Given the description of an element on the screen output the (x, y) to click on. 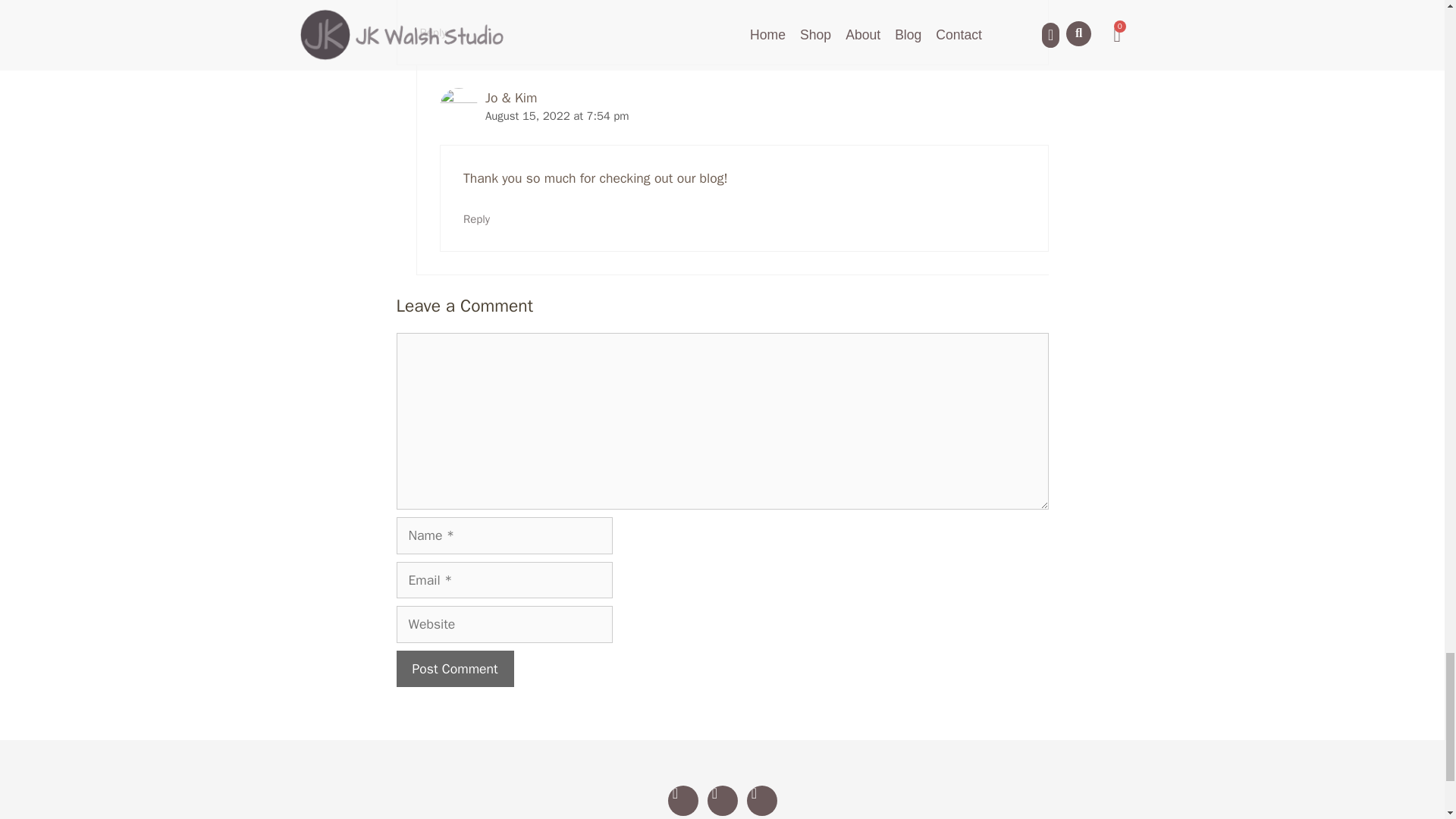
Post Comment (454, 668)
